Given the description of an element on the screen output the (x, y) to click on. 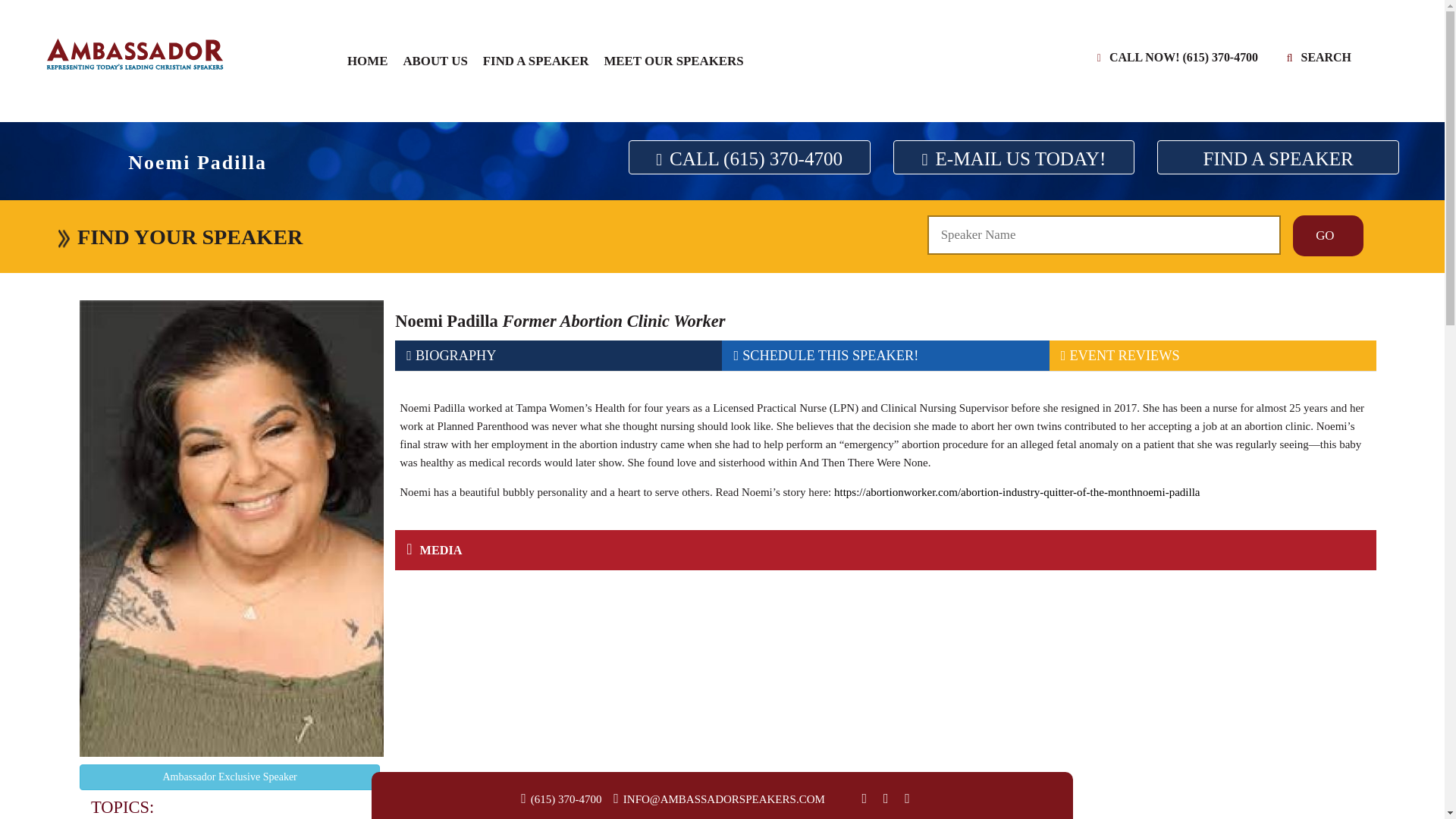
FIND A SPEAKER (536, 61)
E-MAIL US TODAY! (1014, 157)
BIOGRAPHY (558, 355)
Ambassador Speakers, Inc. (134, 53)
EVENT REVIEWS (1212, 355)
Ambassador Exclusive Speaker (230, 777)
SCHEDULE THIS SPEAKER! (885, 355)
MEET OUR SPEAKERS (673, 61)
GO (1327, 235)
FIND A SPEAKER (1278, 157)
